Given the description of an element on the screen output the (x, y) to click on. 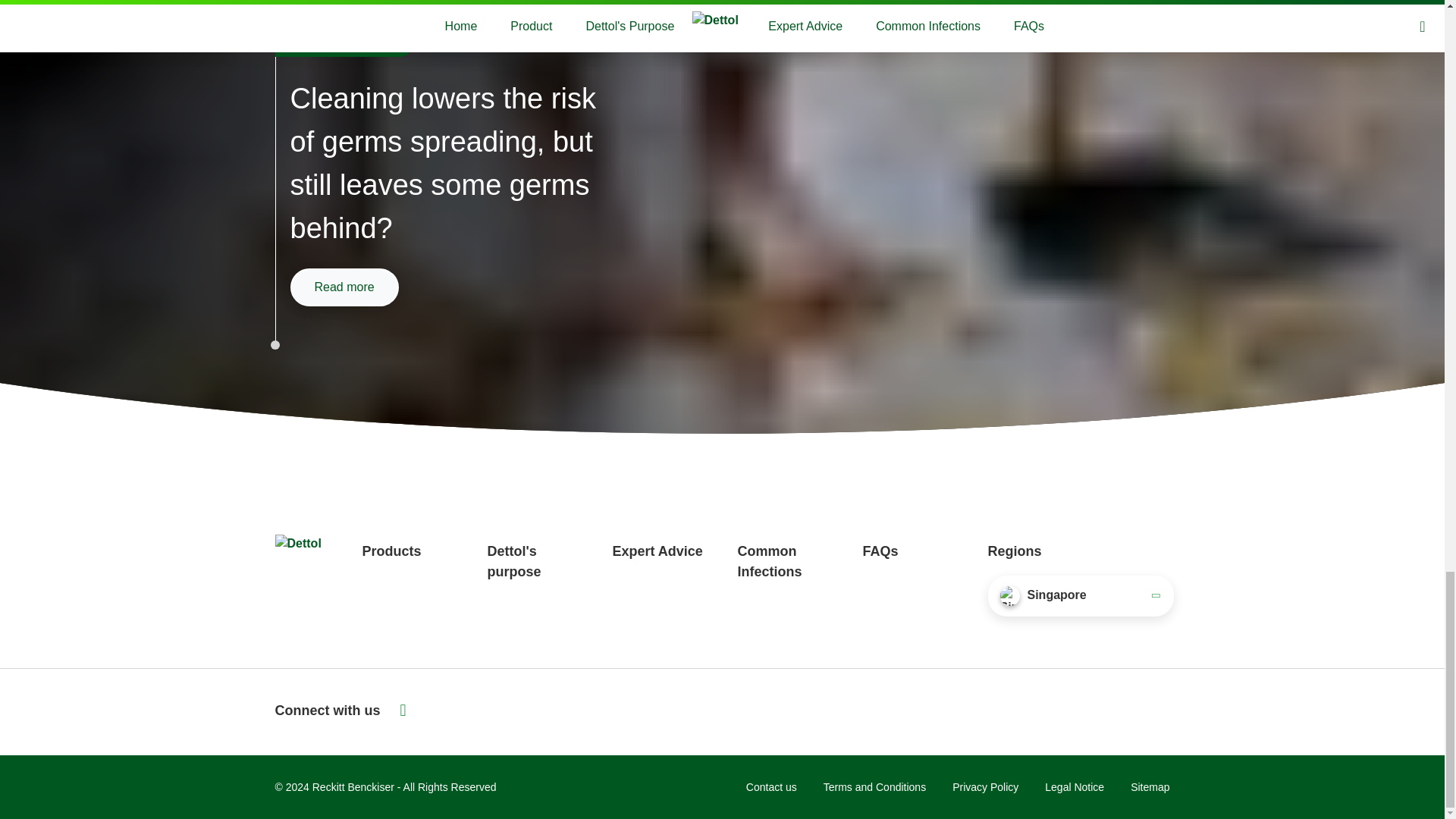
Common Infections (769, 561)
Expert Advice (657, 550)
FAQs (880, 550)
Dettol's purpose (513, 561)
Read more (343, 287)
Products (392, 550)
Singapore (1080, 595)
